Given the description of an element on the screen output the (x, y) to click on. 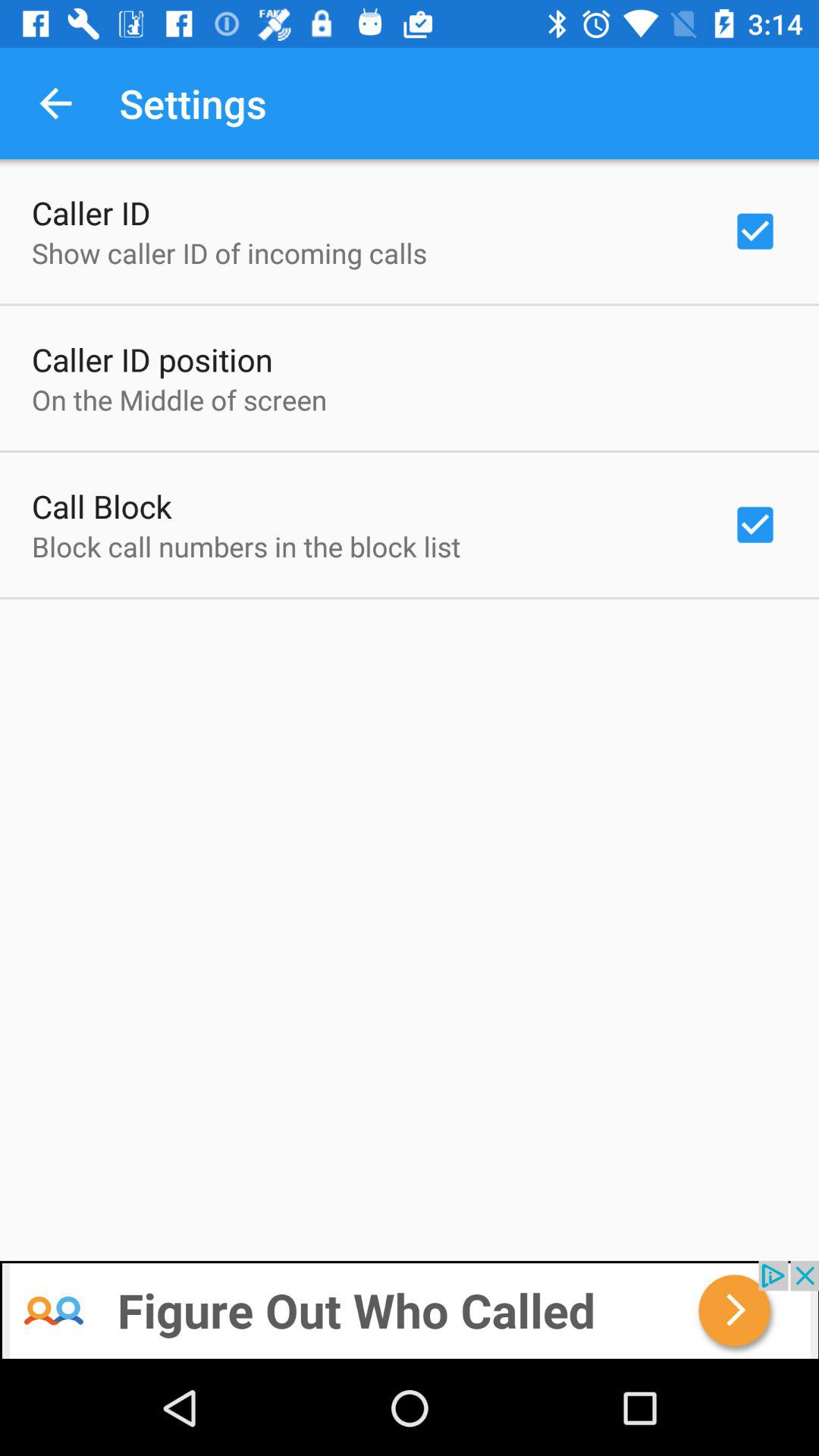
open advertisement (409, 1310)
